Given the description of an element on the screen output the (x, y) to click on. 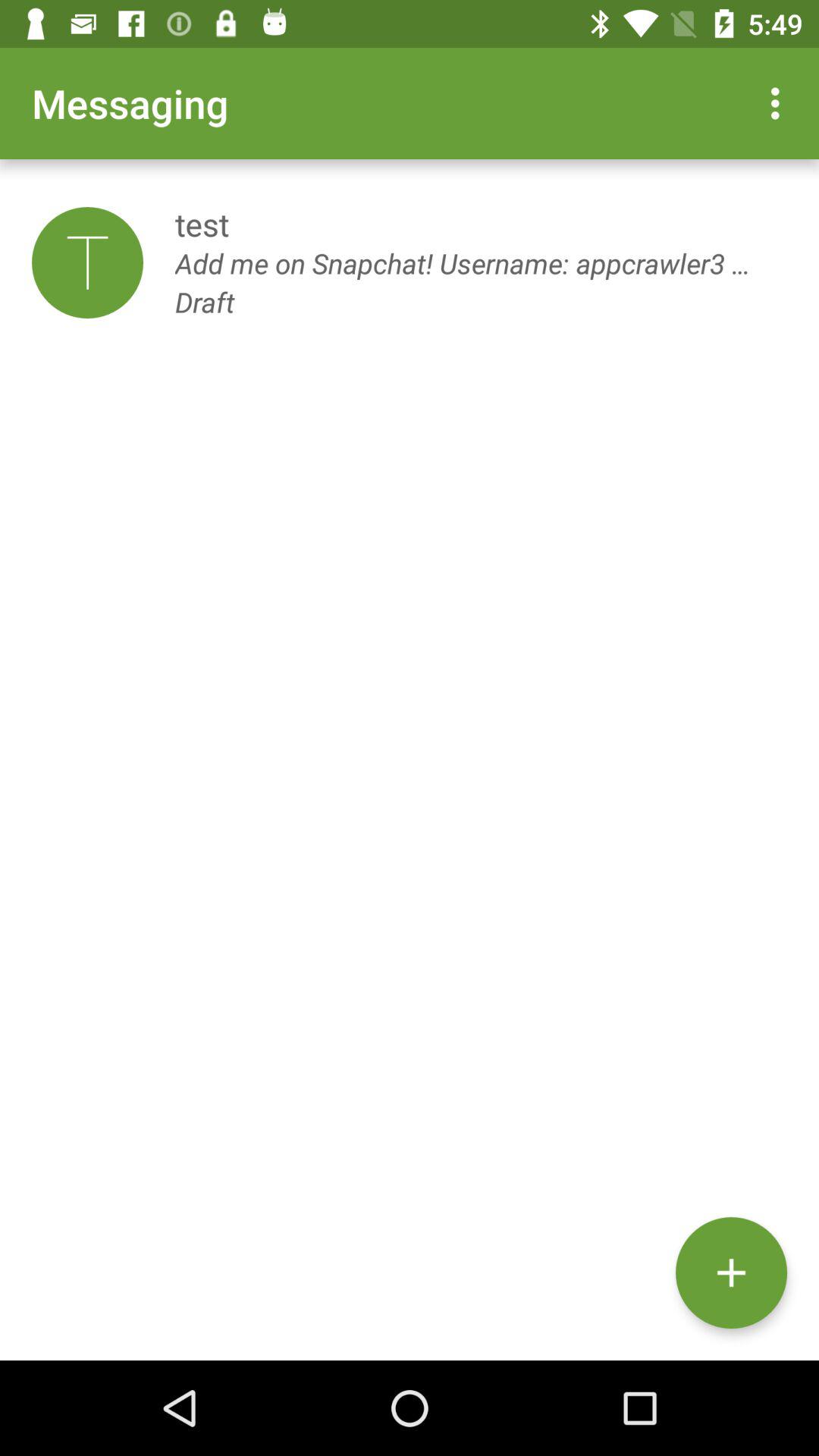
turn on the item at the top right corner (779, 103)
